Given the description of an element on the screen output the (x, y) to click on. 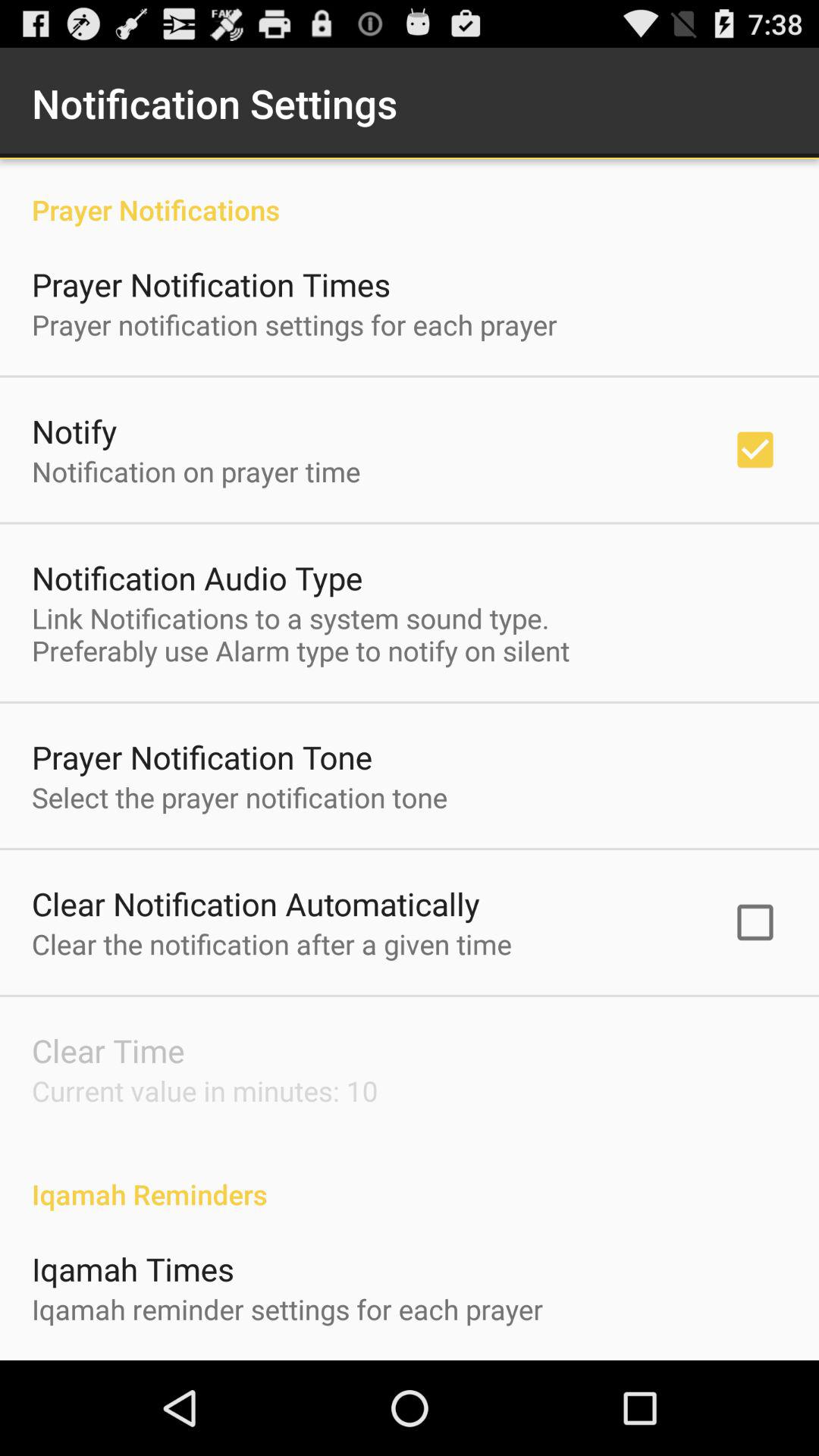
press the icon below notification on prayer icon (196, 577)
